Given the description of an element on the screen output the (x, y) to click on. 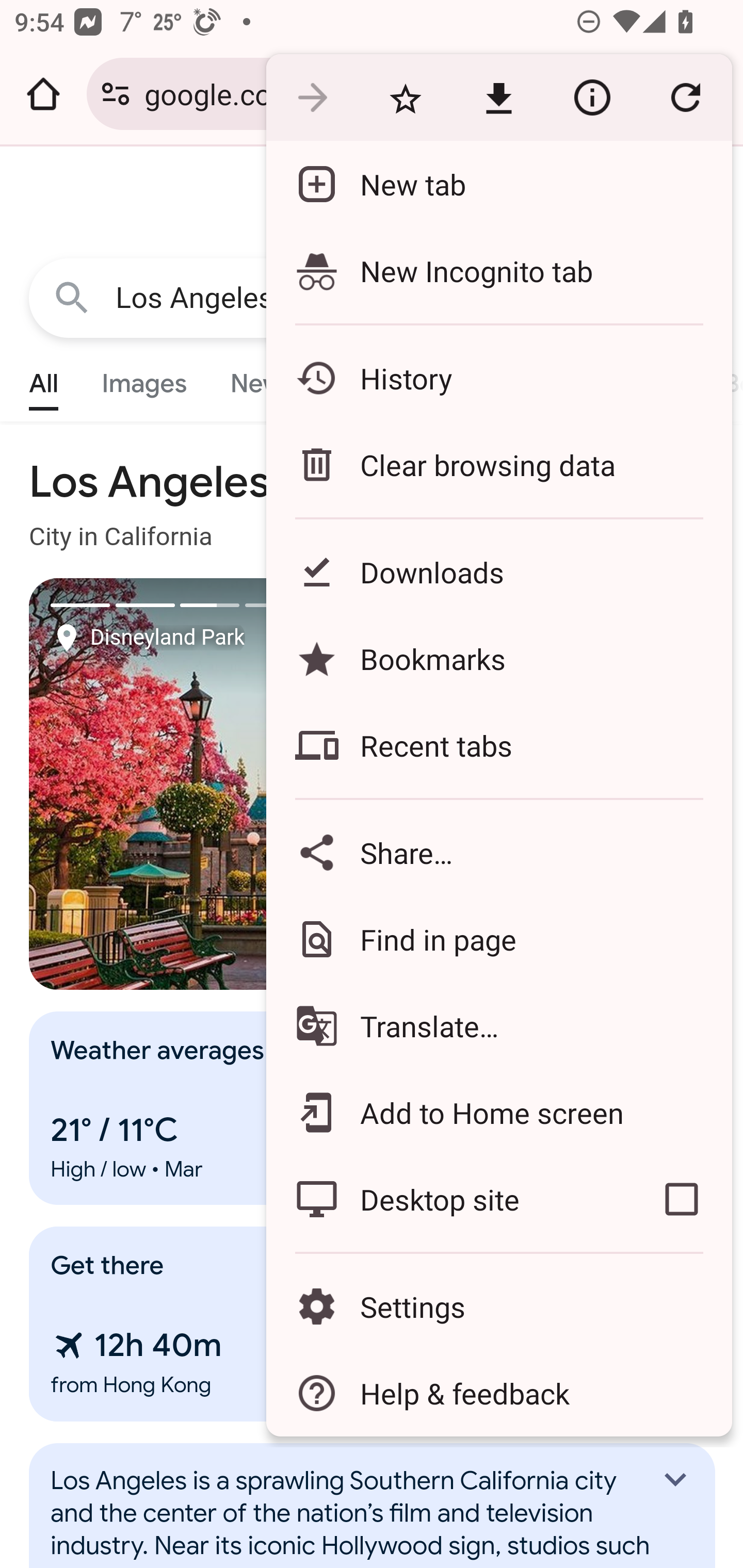
Forward (311, 97)
Bookmark (404, 97)
Download (498, 97)
Page info (591, 97)
Refresh (684, 97)
New tab (498, 184)
New Incognito tab (498, 270)
History (498, 377)
Clear browsing data (498, 464)
Downloads (498, 571)
Bookmarks (498, 658)
Recent tabs (498, 745)
Share… (498, 852)
Find in page (498, 939)
Translate… (498, 1026)
Add to Home screen (498, 1112)
Desktop site Turn on Request desktop site (447, 1198)
Settings (498, 1306)
Help & feedback (498, 1393)
